Given the description of an element on the screen output the (x, y) to click on. 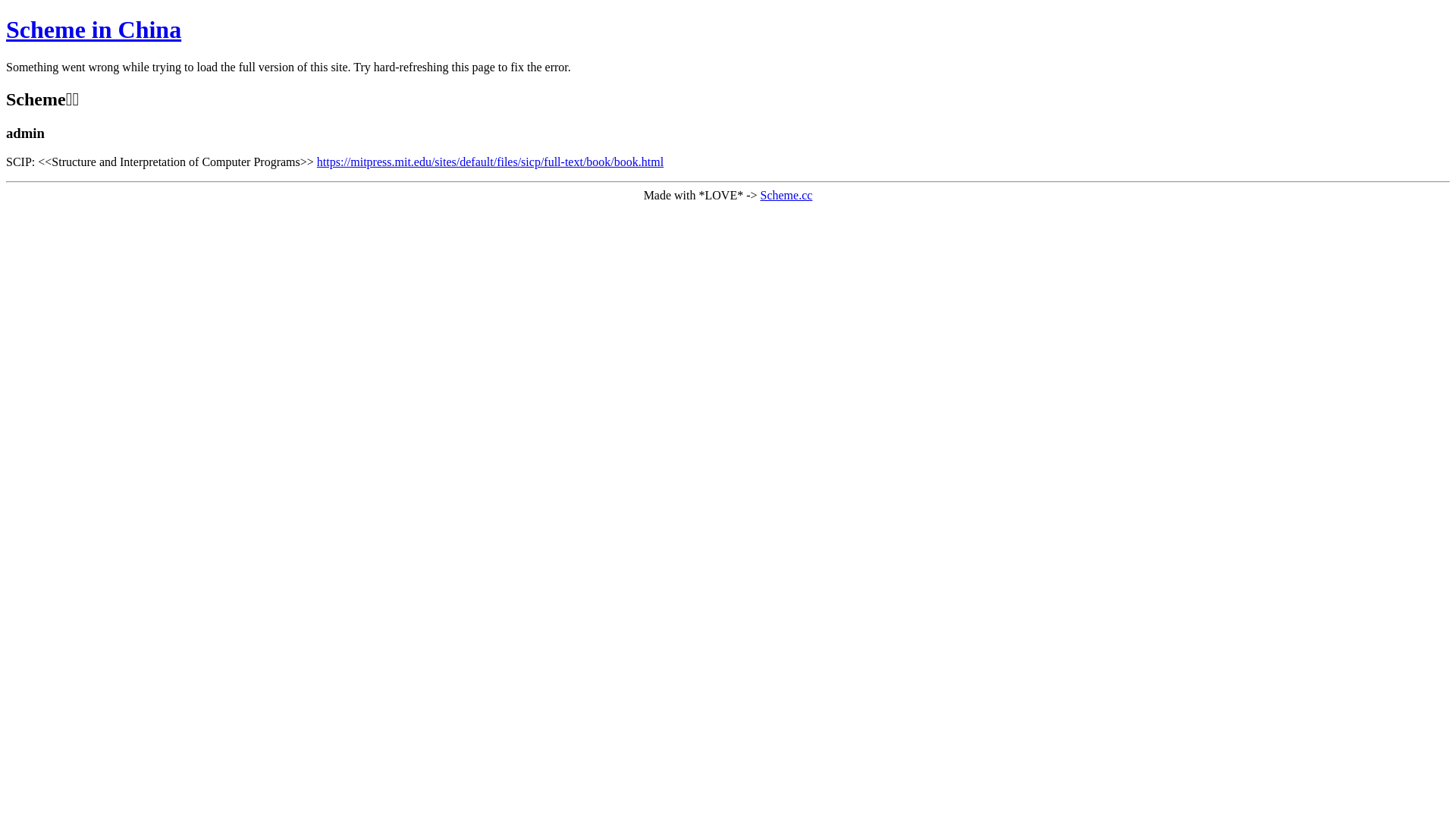
Scheme in China Element type: text (93, 29)
Scheme.cc Element type: text (786, 194)
